Given the description of an element on the screen output the (x, y) to click on. 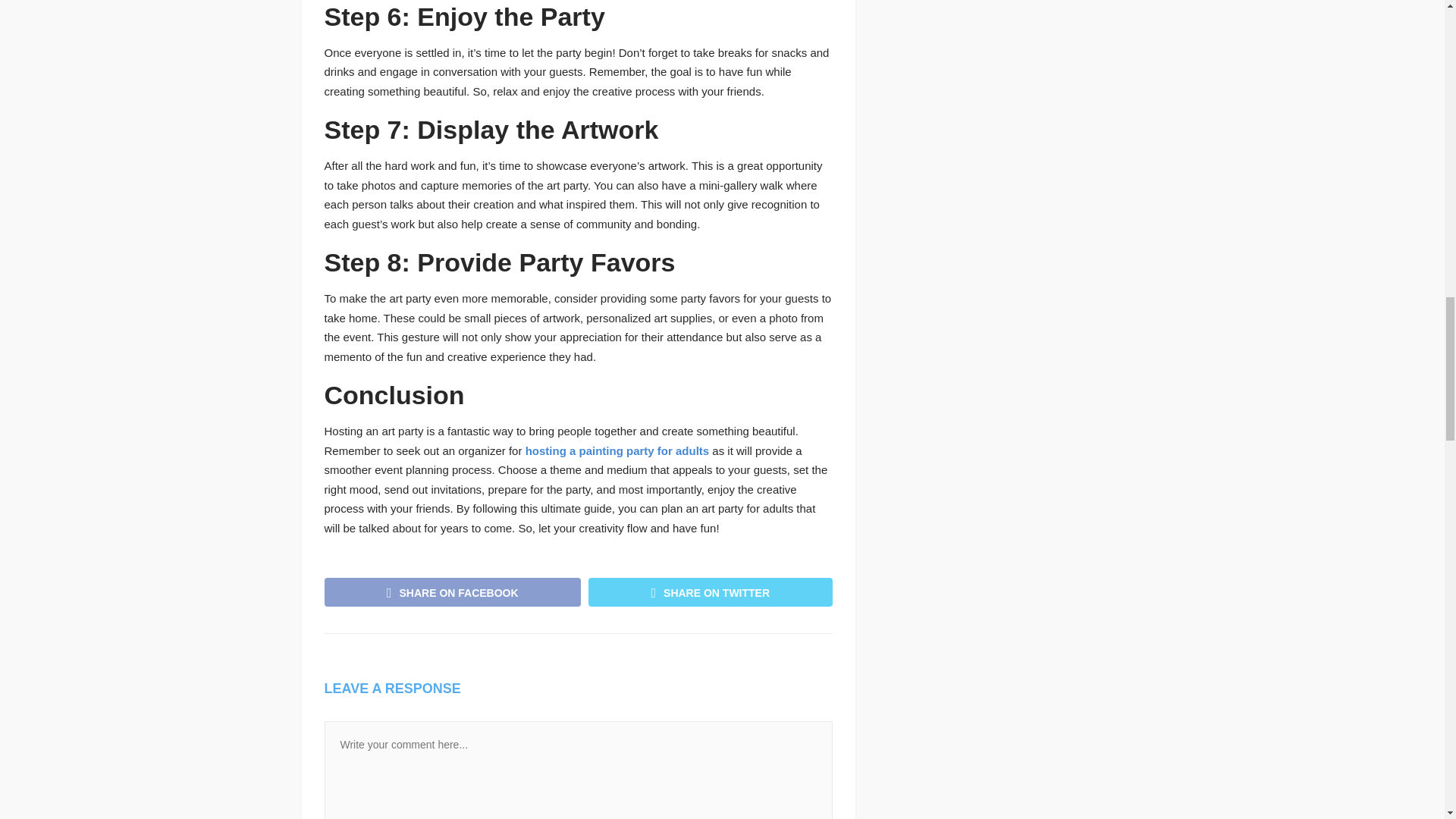
hosting a painting party for adults (617, 450)
SHARE ON FACEBOOK (452, 592)
SHARE ON TWITTER (709, 592)
